Given the description of an element on the screen output the (x, y) to click on. 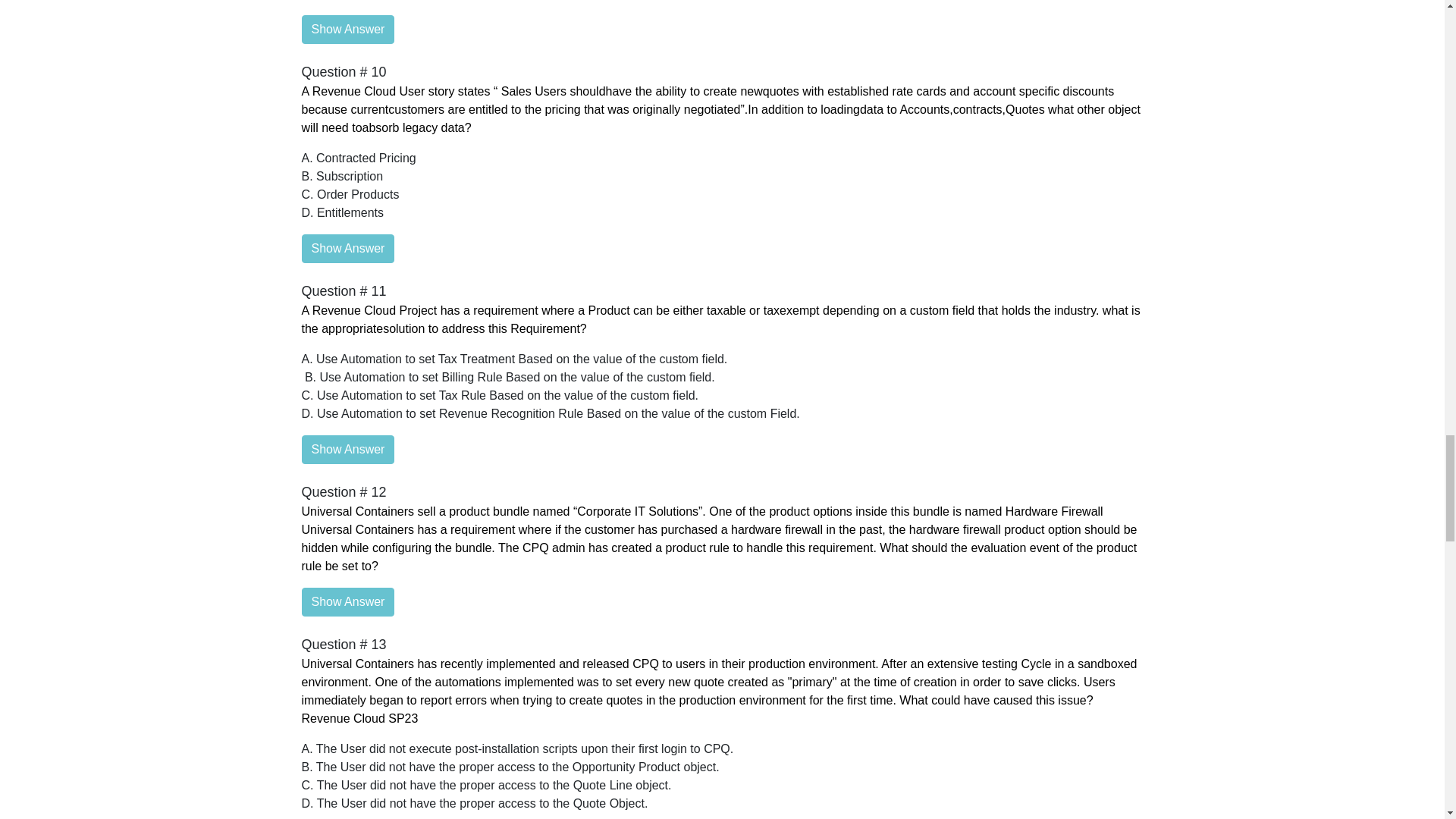
Show Answer (347, 449)
Show Answer (347, 248)
Show Answer (347, 29)
Show Answer (347, 602)
